Given the description of an element on the screen output the (x, y) to click on. 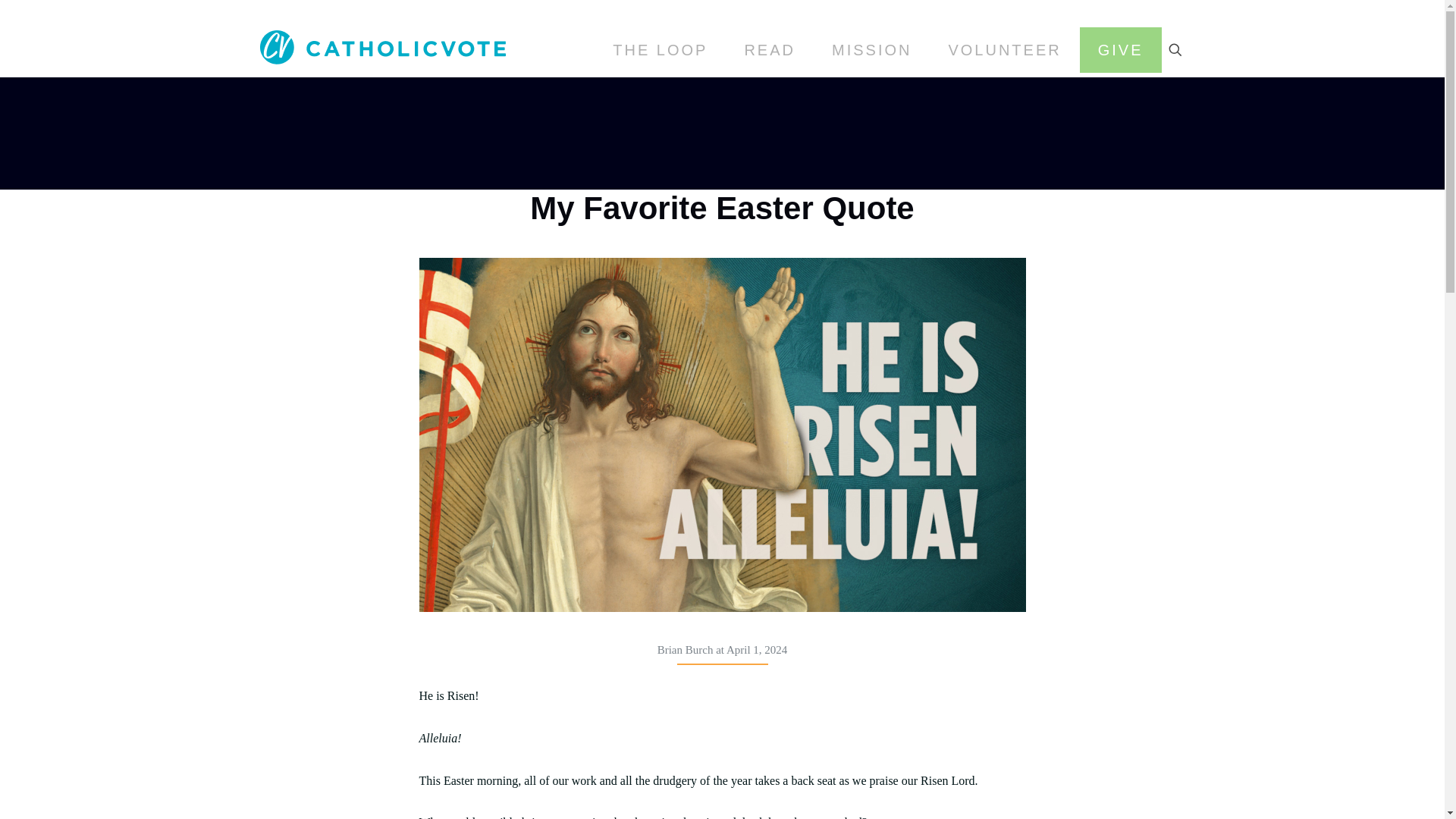
VOLUNTEER (1004, 49)
GIVE (1120, 49)
CatholicVote org (382, 45)
READ (769, 49)
MISSION (871, 49)
Brian Burch (685, 649)
THE LOOP (659, 49)
